Given the description of an element on the screen output the (x, y) to click on. 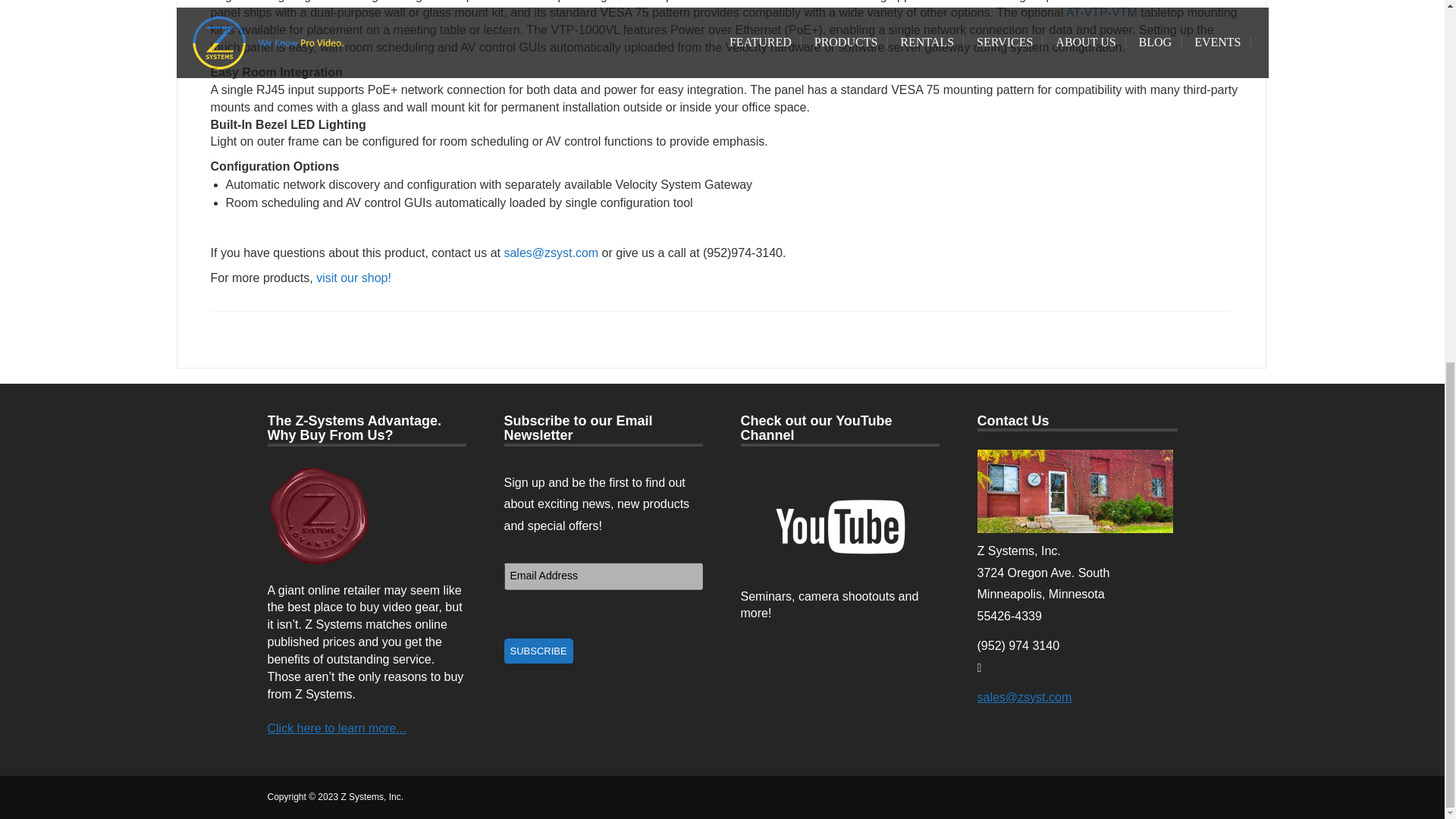
Email Address (602, 575)
Subscribe (537, 651)
